Given the description of an element on the screen output the (x, y) to click on. 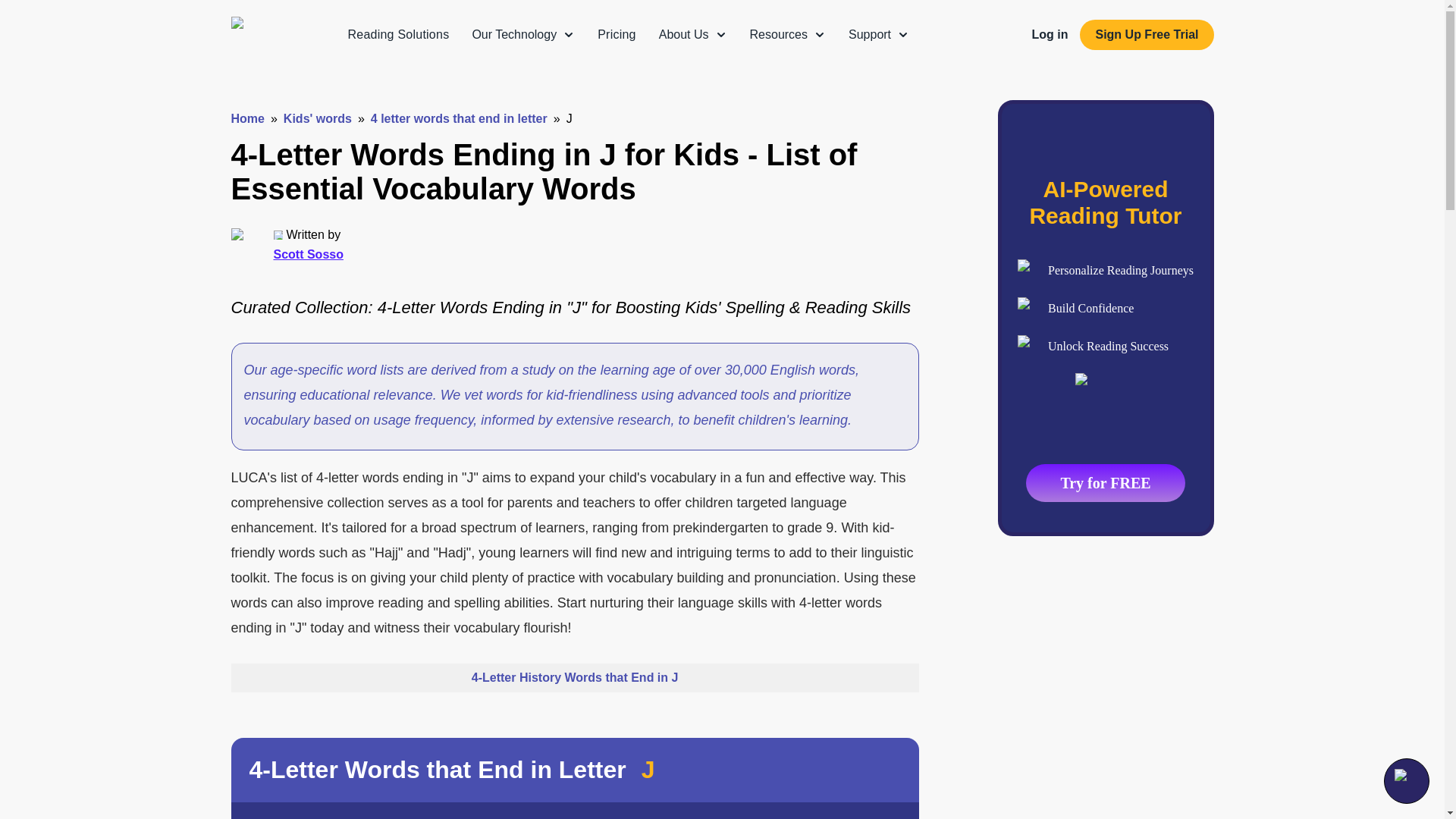
Log in (1048, 34)
Home (246, 118)
4 letter words that end in letter (459, 118)
Kids' words (317, 118)
Pricing (616, 33)
Scott Sosso (307, 254)
Sign Up Free Trial (1146, 34)
Reading Solutions (397, 33)
4-Letter History Words that End in J (574, 677)
